Given the description of an element on the screen output the (x, y) to click on. 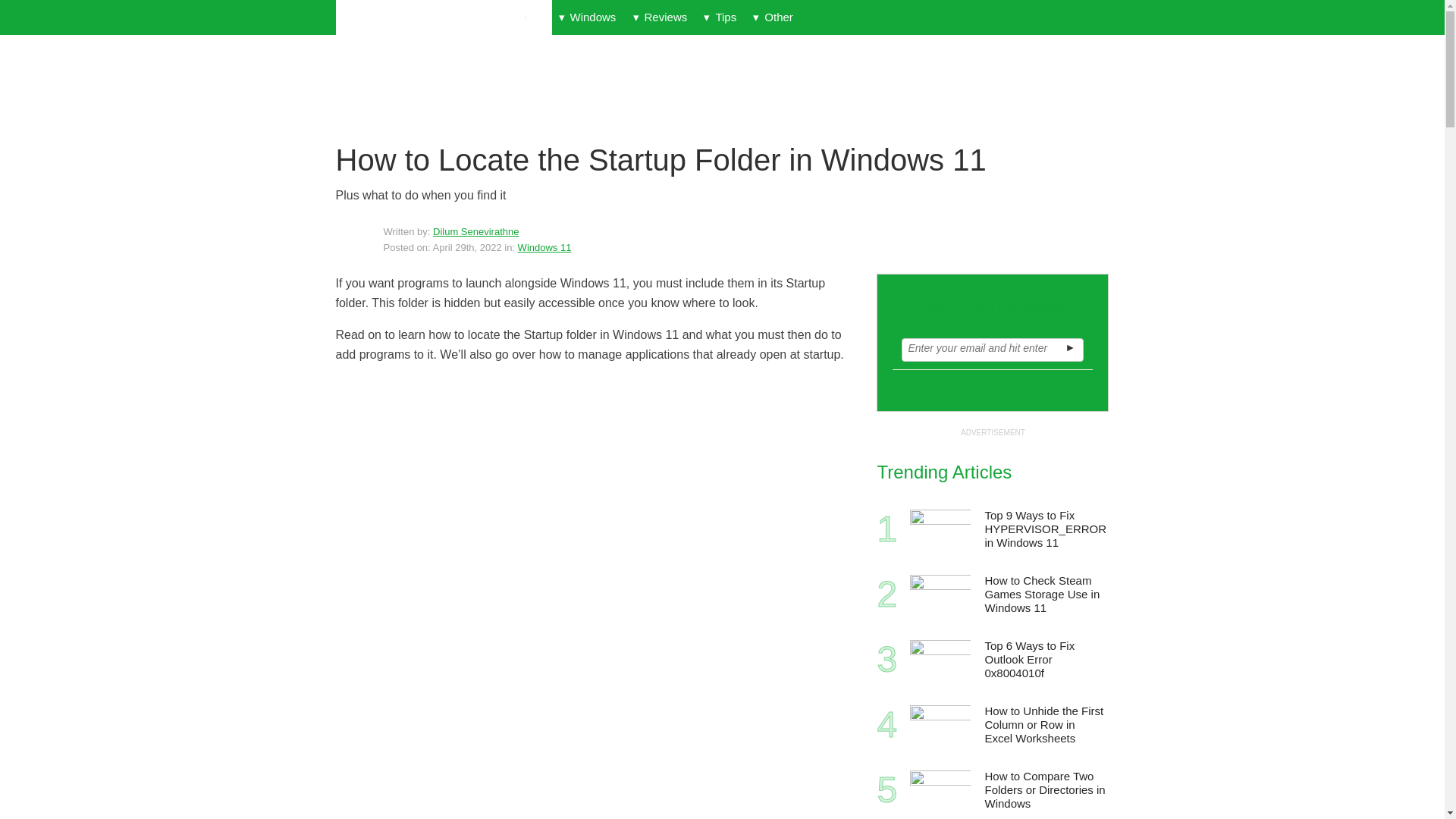
How to Unhide the First Column or Row in Excel Worksheets (1044, 724)
Windows (587, 17)
How to Compare Two Folders or Directories in Windows (1044, 790)
Tips (719, 17)
Reviews (660, 17)
Friday, April 29, 2022, 6:00 am (467, 247)
Help Desk Geek (443, 17)
Help Desk Geek (443, 17)
How to Check Steam Games Storage Use in Windows 11 (1044, 594)
How to Compare Two Folders or Directories in Windows (940, 789)
Top 6 Ways to Fix Outlook Error 0x8004010f (1044, 659)
Top 6 Ways to Fix Outlook Error 0x8004010f (940, 659)
How to Check Steam Games Storage Use in Windows 11 (940, 594)
How to Unhide the First Column or Row in Excel Worksheets (940, 724)
Other (772, 17)
